Given the description of an element on the screen output the (x, y) to click on. 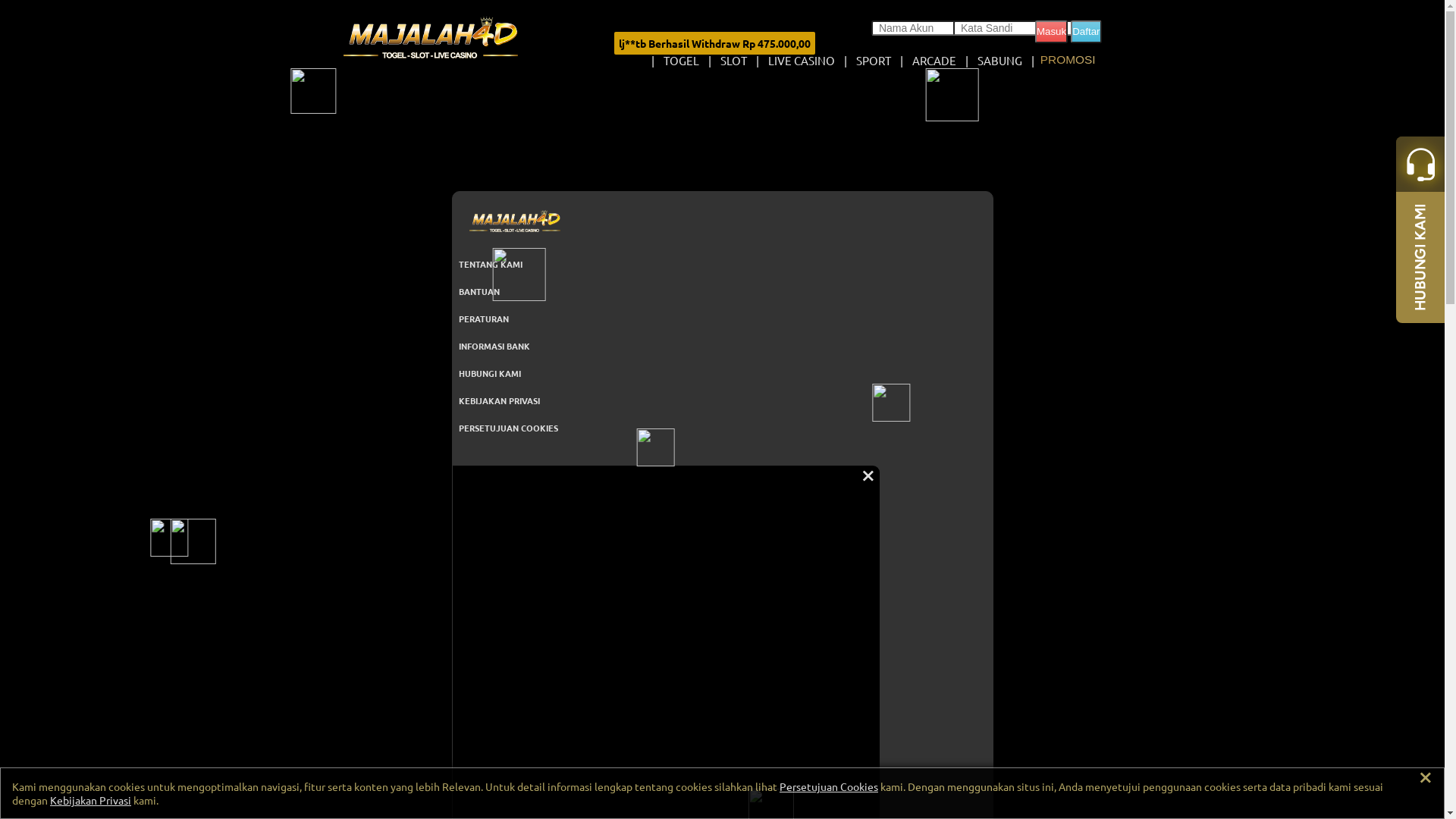
SABUNG Element type: text (999, 60)
SPORT Element type: text (873, 60)
Persetujuan Cookies Element type: text (828, 786)
ARCADE Element type: text (934, 60)
PROMOSI Element type: text (1067, 59)
PERATURAN Element type: text (513, 318)
BANTUAN Element type: text (513, 290)
PERSETUJUAN COOKIES Element type: text (513, 427)
KEBIJAKAN PRIVASI Element type: text (513, 400)
INFORMASI BANK Element type: text (513, 345)
LIVE CASINO Element type: text (801, 60)
TENTANG KAMI Element type: text (513, 263)
Daftar Element type: text (1085, 30)
Masuk Element type: text (1051, 30)
Kebijakan Privasi Element type: text (90, 799)
TOGEL Element type: text (681, 60)
SLOT Element type: text (733, 60)
HUBUNGI KAMI Element type: text (513, 372)
